Given the description of an element on the screen output the (x, y) to click on. 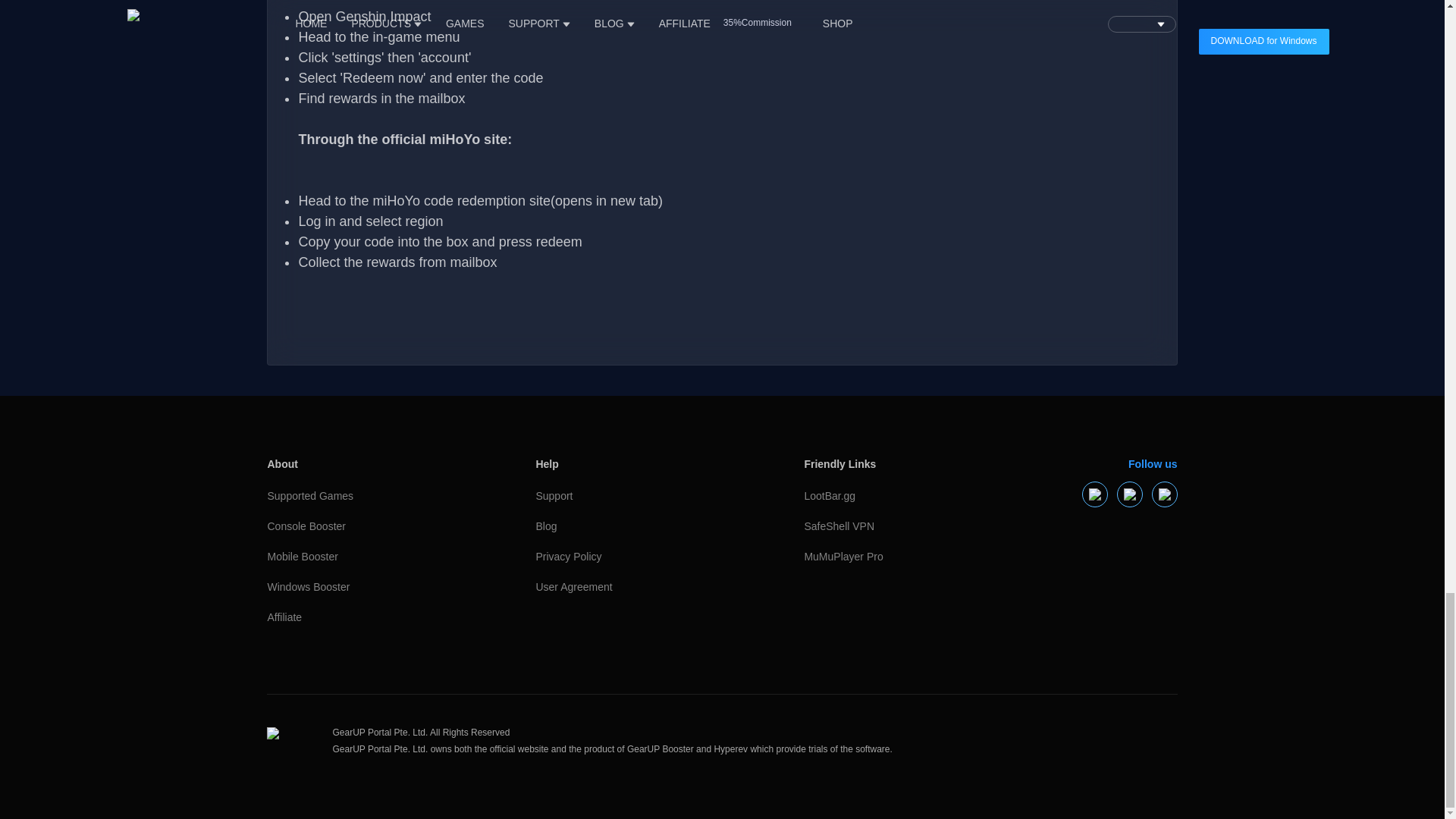
Support (642, 496)
Blog (642, 526)
Windows Booster (373, 587)
Supported Games (373, 496)
Mobile Booster (373, 557)
Affiliate (373, 617)
LootBar.gg (910, 496)
SafeShell VPN (910, 526)
Console Booster (373, 526)
MuMuPlayer Pro (910, 557)
